Given the description of an element on the screen output the (x, y) to click on. 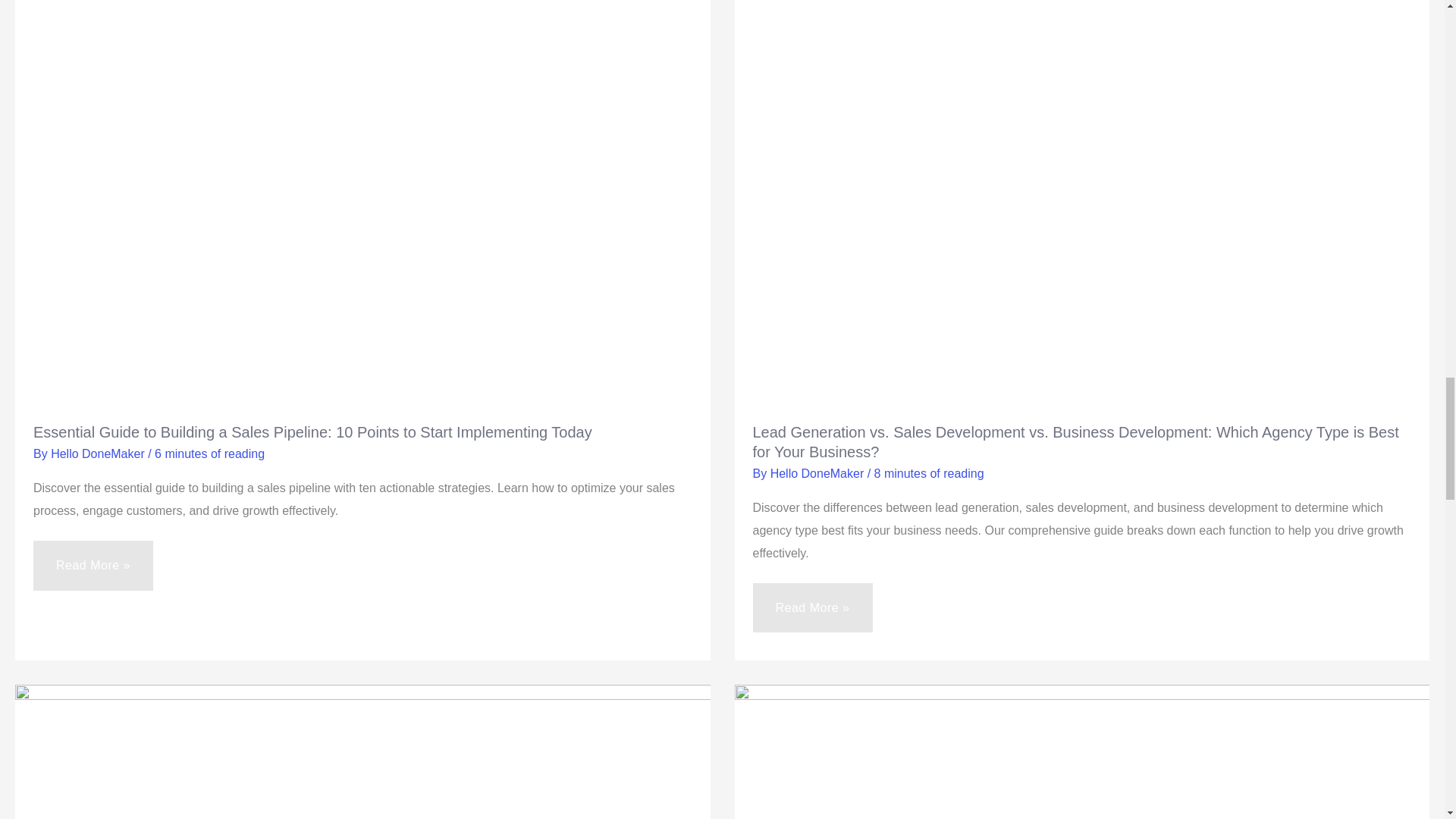
Hello DoneMaker (99, 453)
View all posts by Hello DoneMaker (99, 453)
View all posts by Hello DoneMaker (818, 472)
Hello DoneMaker (818, 472)
